Given the description of an element on the screen output the (x, y) to click on. 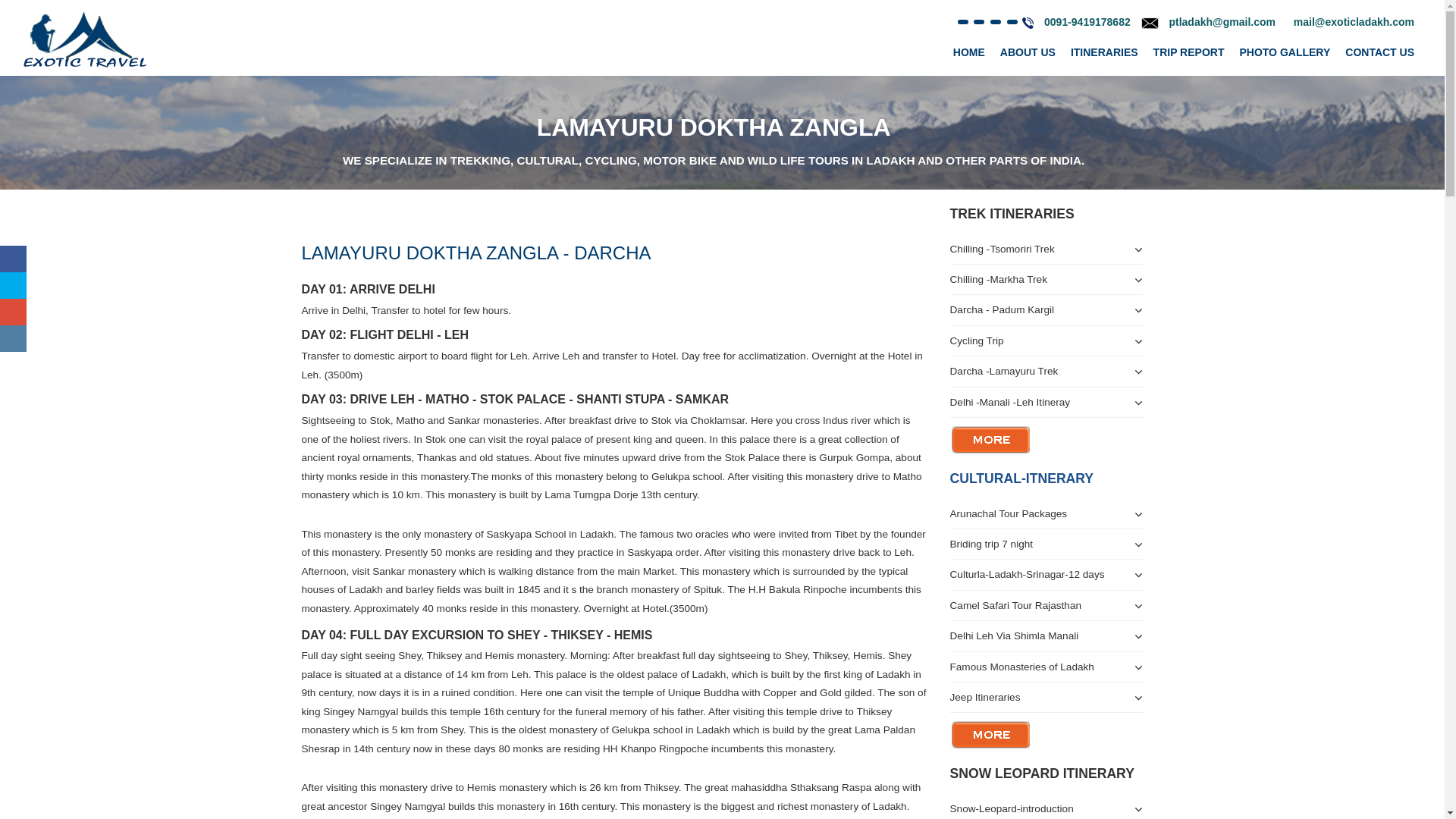
Chilling -Markha Trek (1045, 278)
Darcha -Lamayuru Trek (1045, 370)
Chilling -Tsomoriri Trek (1045, 248)
TRIP REPORT (1188, 51)
Delhi -Manali -Leh Itineray (1045, 401)
Camel Safari Tour Rajasthan (1045, 605)
HOME (968, 51)
PHOTO GALLERY (1284, 51)
Culturla-Ladakh-Srinagar-12 days (1026, 573)
Delhi Leh Via Shimla Manali (1045, 635)
0091-9419178682 (1087, 21)
ABOUT US (1027, 51)
Famous Monasteries of Ladakh (1045, 667)
Cycling Trip (1045, 340)
Darcha - Padum Kargil (1045, 309)
